Given the description of an element on the screen output the (x, y) to click on. 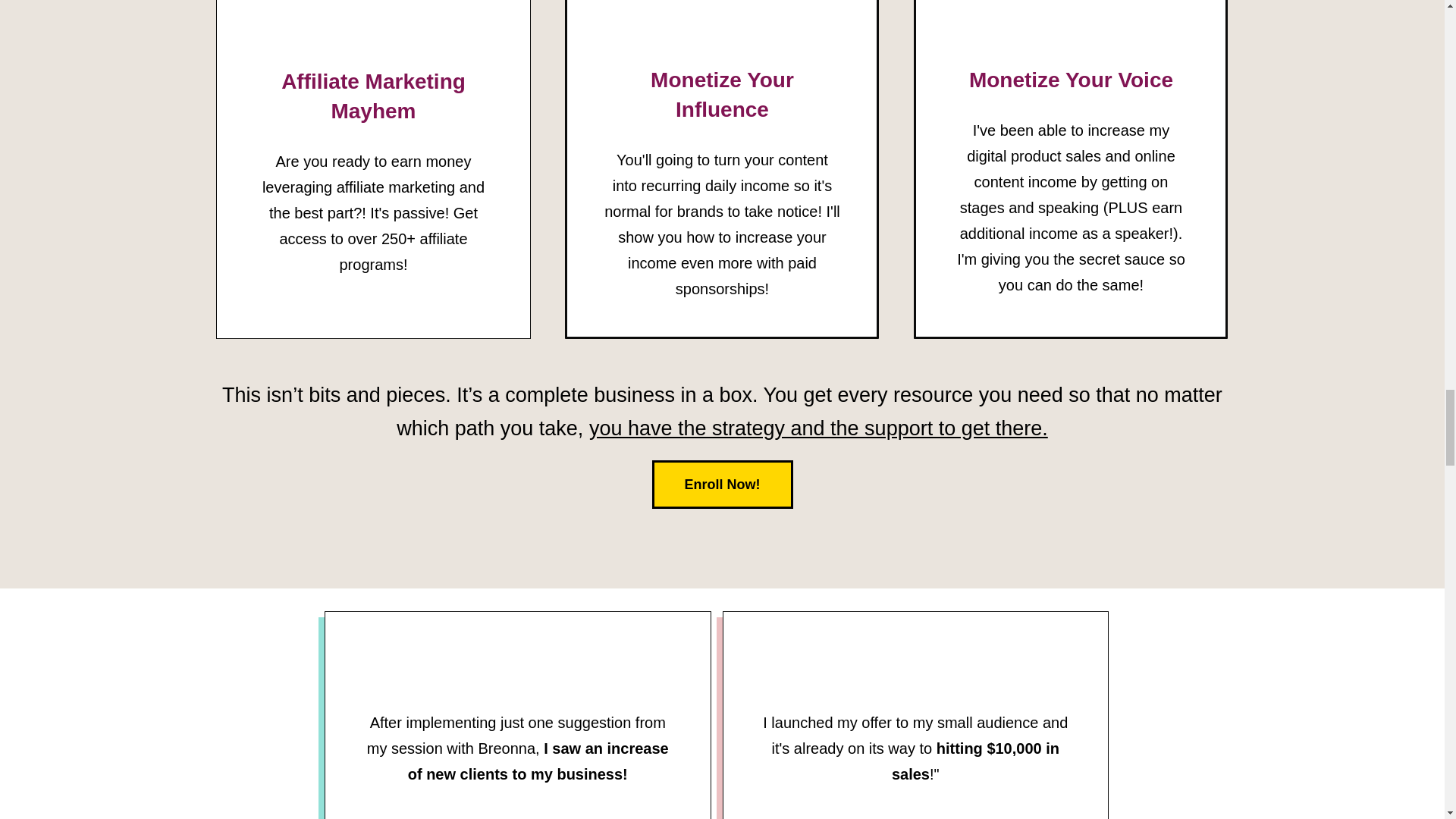
Screenshot-2021-04-05-at-5.15.31-PM.png (914, 810)
Enroll Now! (722, 484)
Screen-Shot-2019-07-25-at-3.31.54-PM.png (517, 810)
